Given the description of an element on the screen output the (x, y) to click on. 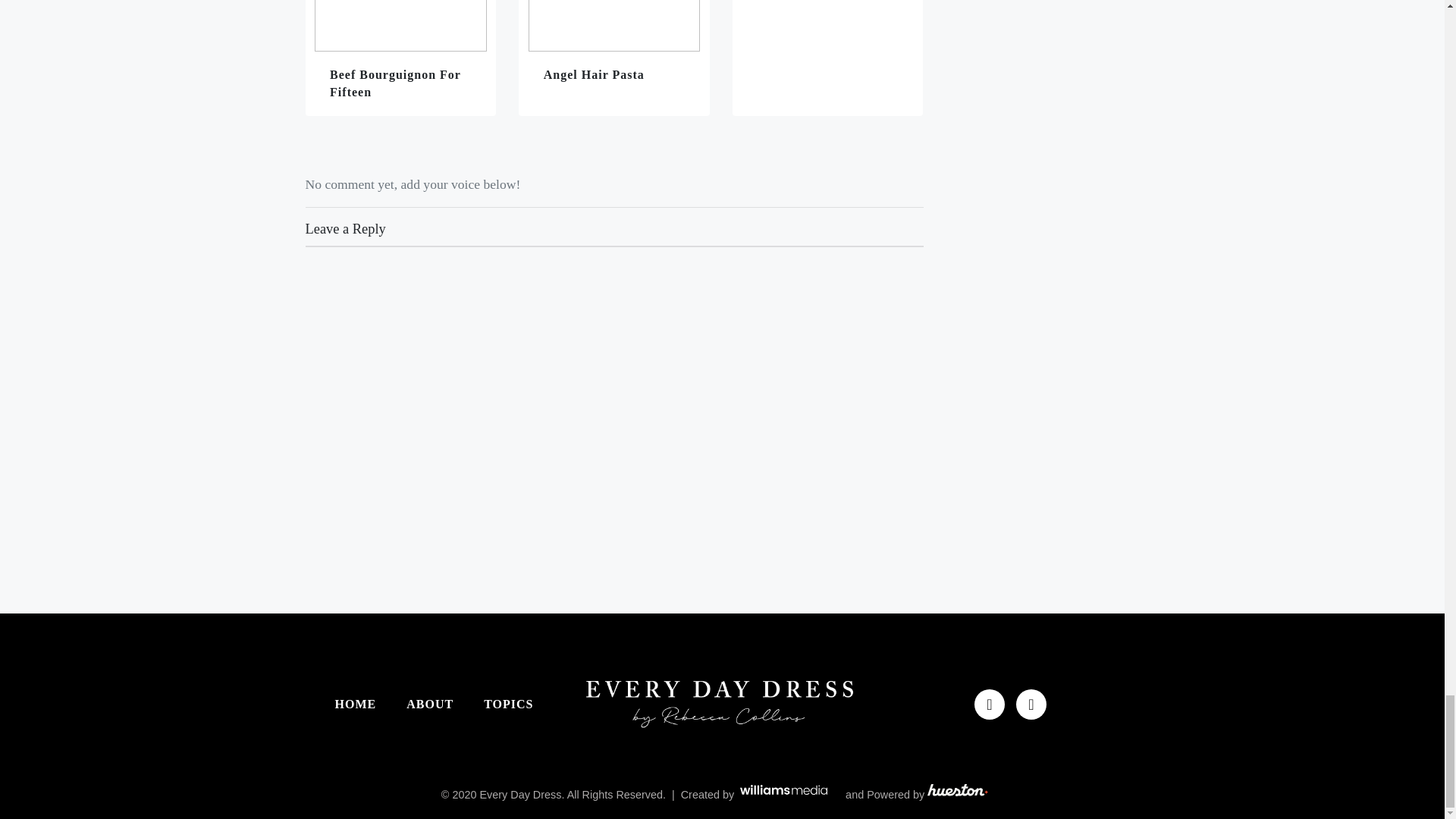
Cake Cake Cake (827, 58)
Beef Bourguignon For Fifteen (400, 58)
Angel Hair Pasta (614, 58)
